Given the description of an element on the screen output the (x, y) to click on. 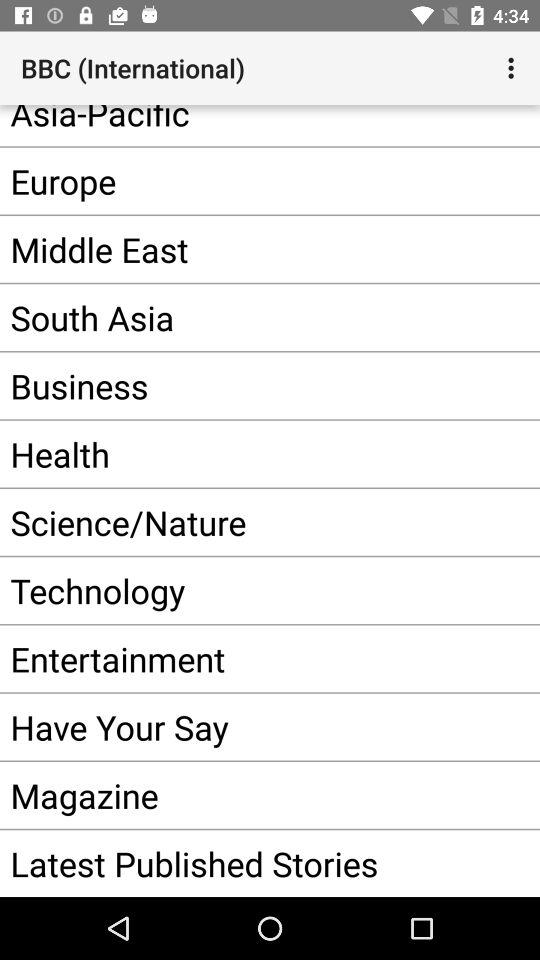
choose the science/nature app (240, 521)
